Given the description of an element on the screen output the (x, y) to click on. 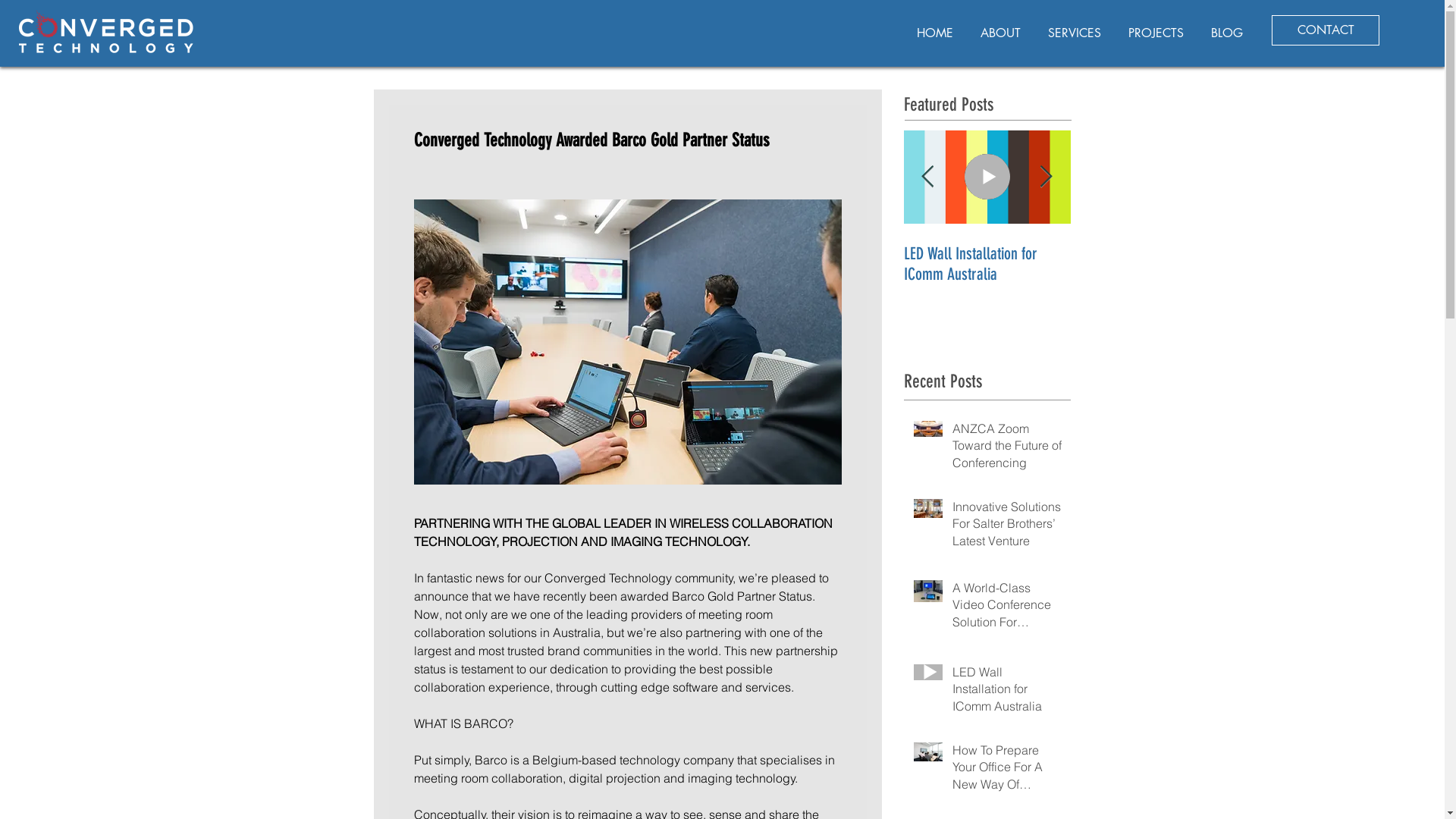
CONTACT Element type: text (1325, 30)
LED Wall Installation for IComm Australia Element type: text (986, 263)
PROJECTS Element type: text (1155, 26)
PRODUCT REVIEW: New ClickShare Conferencing Range Element type: text (1320, 273)
How To Prepare Your Office For A New Way Of Working Element type: text (1153, 263)
LED Wall Installation for IComm Australia Element type: text (1006, 691)
BLOG Element type: text (1226, 26)
A World-Class Video Conference Solution For Asialink Element type: text (1006, 607)
How To Prepare Your Office For A New Way Of Working Element type: text (1006, 769)
HOME Element type: text (934, 26)
ABOUT Element type: text (1000, 26)
SERVICES Element type: text (1074, 26)
ANZCA Zoom Toward the Future of Conferencing Element type: text (1006, 448)
